Given the description of an element on the screen output the (x, y) to click on. 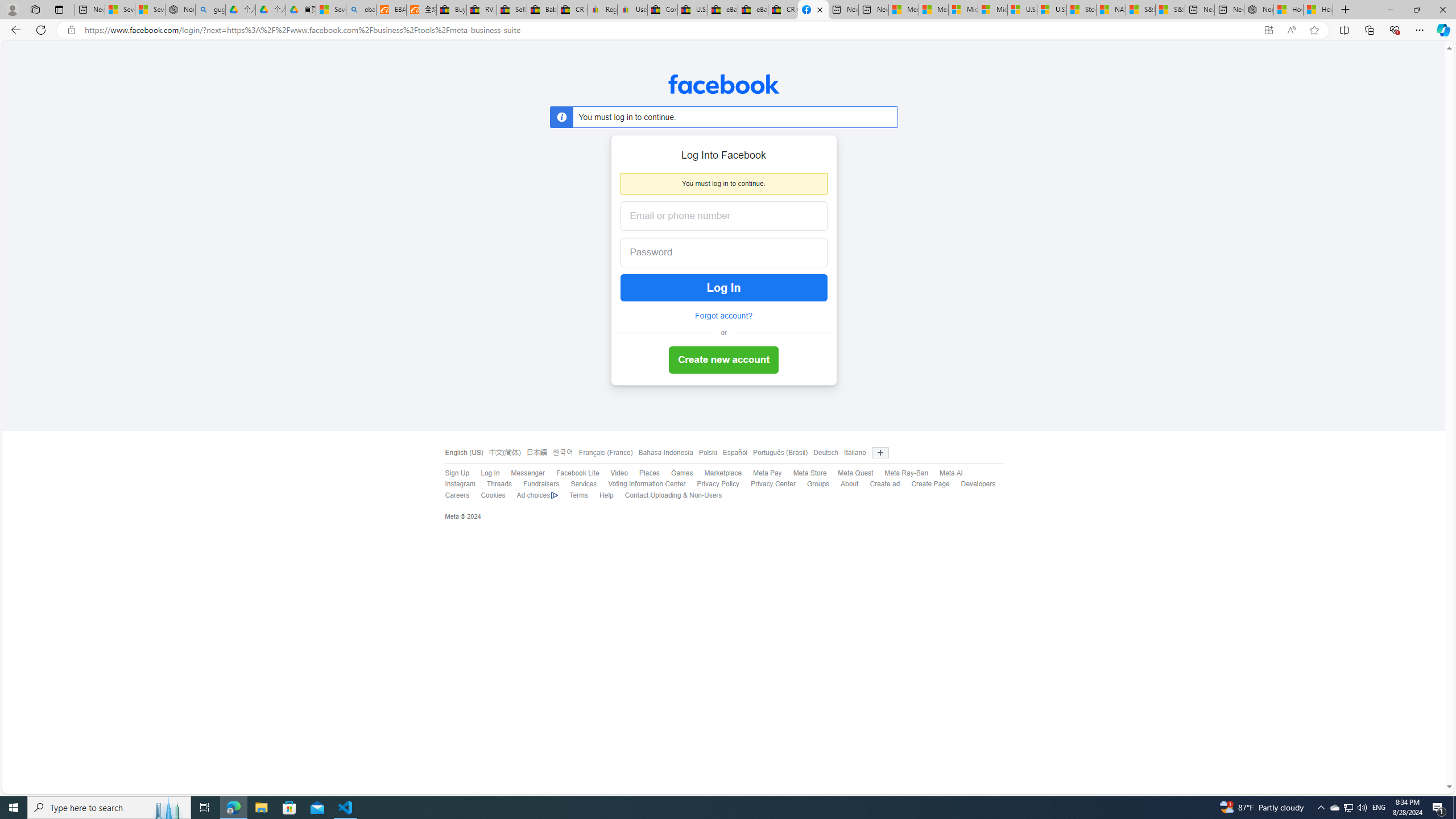
Meta Ray-Ban (900, 473)
Ad choices (532, 495)
Password (714, 252)
Help (605, 494)
Groups (811, 484)
Deutsch (823, 452)
guge yunpan - Search (210, 9)
Video (618, 473)
Deutsch (825, 452)
Meta Pay (761, 473)
